Given the description of an element on the screen output the (x, y) to click on. 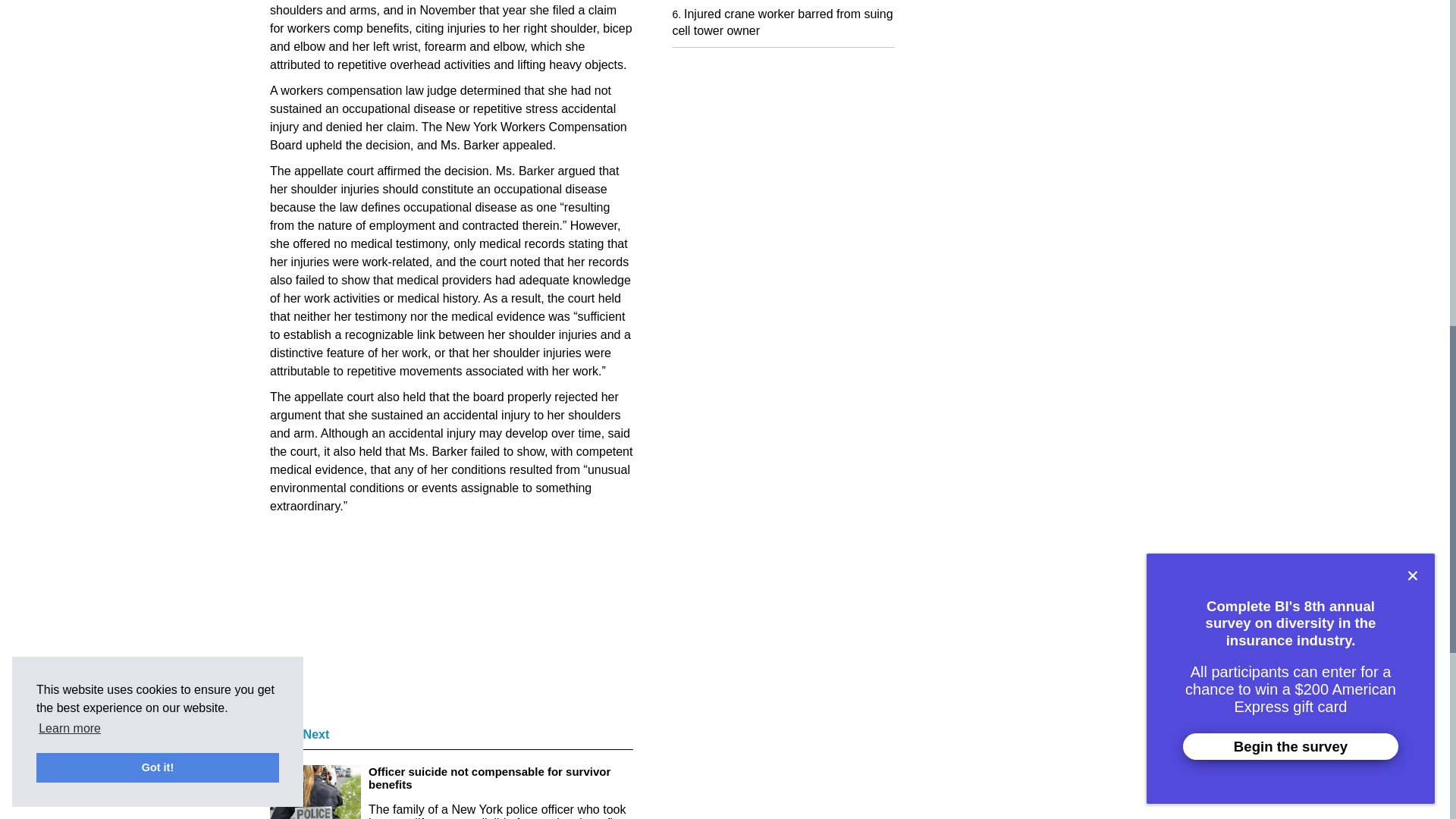
3rd party ad content (383, 625)
